Given the description of an element on the screen output the (x, y) to click on. 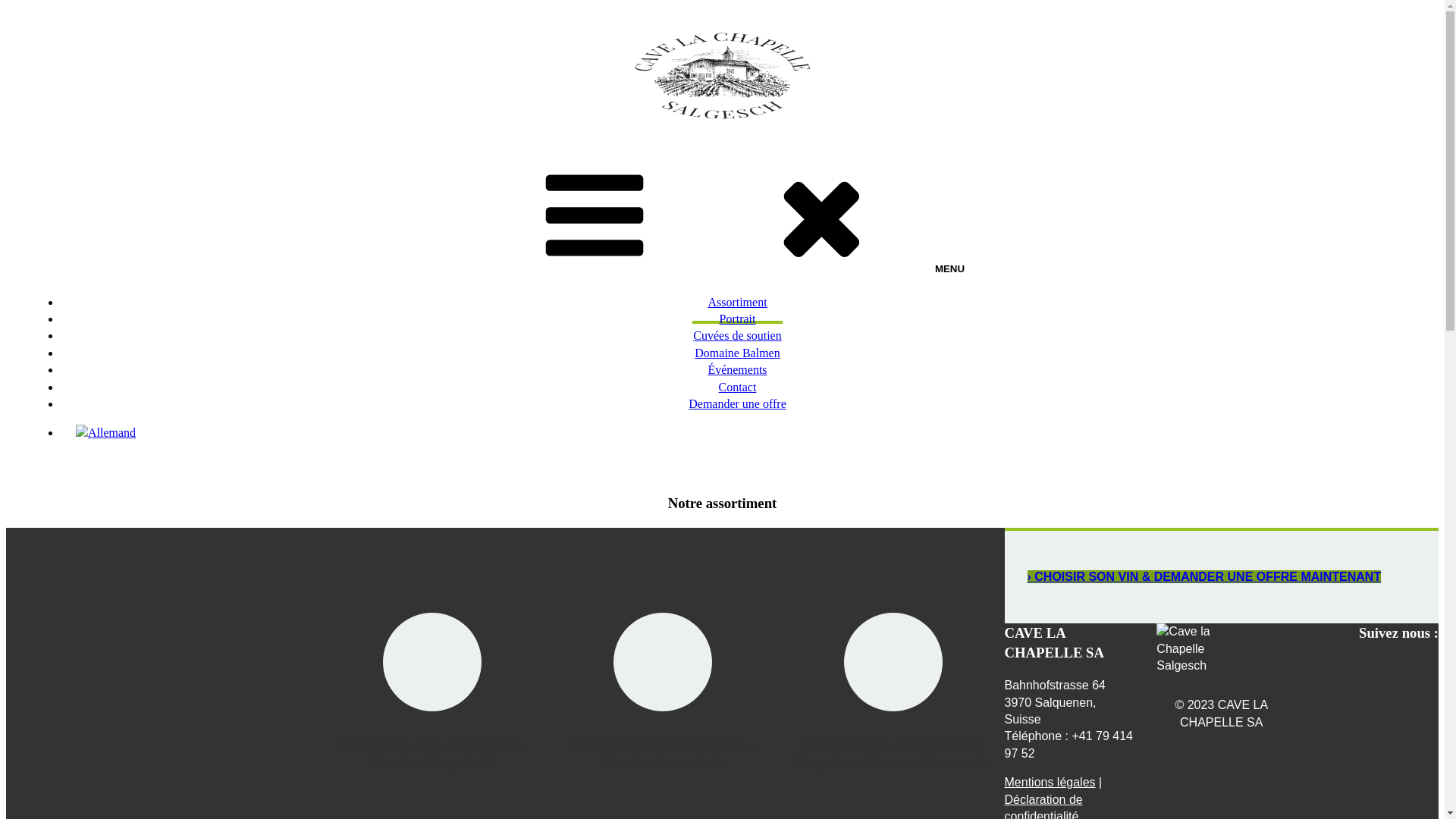
Contact Element type: text (737, 388)
Aller au contenu principal Element type: text (5, 5)
MENU Element type: text (722, 215)
CAVE LA CHAPELLE Element type: text (64, 145)
Portrait Element type: text (736, 320)
Assortiment Element type: text (736, 303)
Demander une offre Element type: text (737, 405)
Cave la Chapelle Salgesch Element type: hover (1201, 648)
Domaine Balmen Element type: text (736, 354)
